Given the description of an element on the screen output the (x, y) to click on. 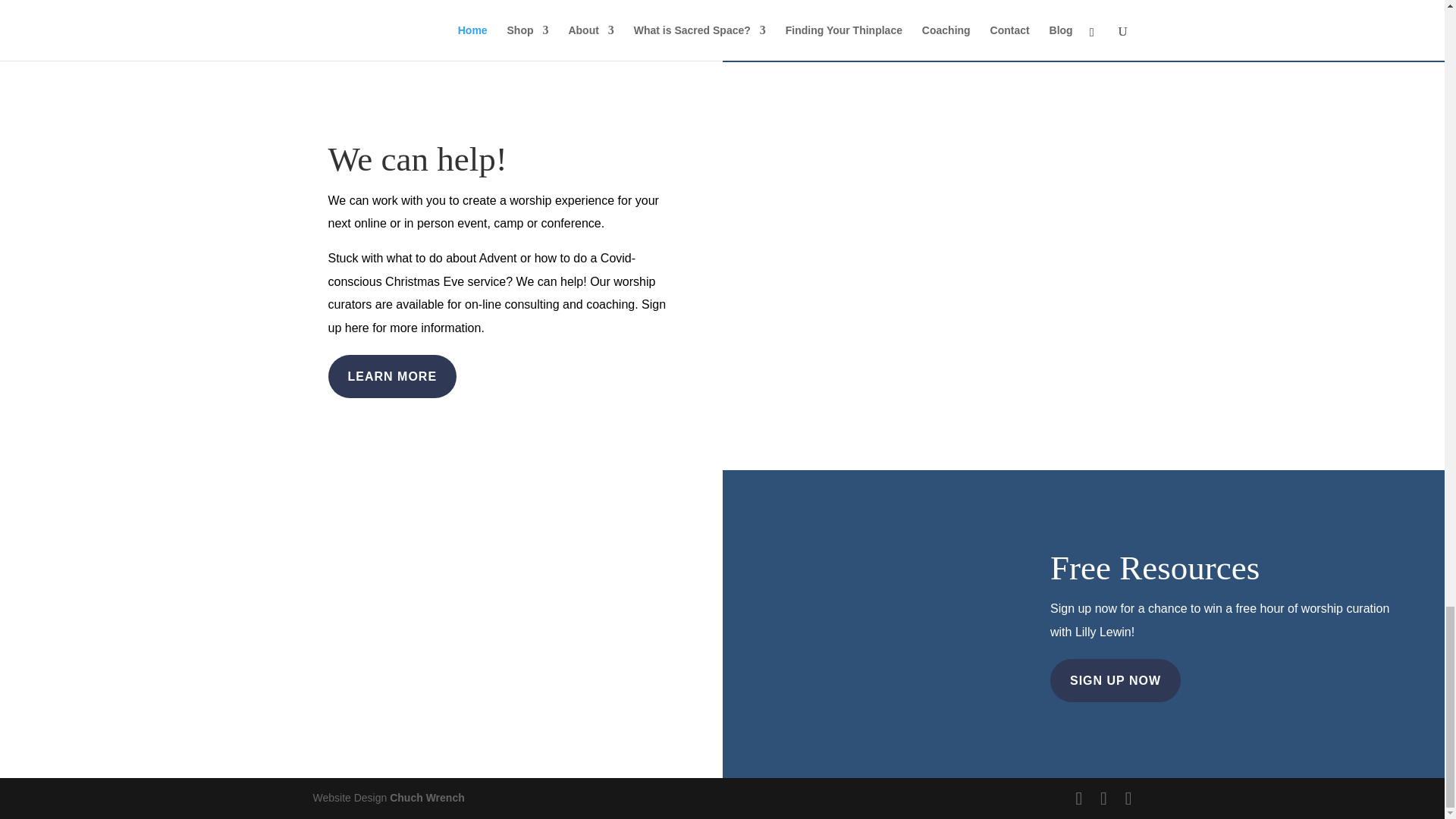
Chuch Wrench (427, 797)
LEARN MORE (392, 376)
SIGN UP NOW (1114, 680)
